Given the description of an element on the screen output the (x, y) to click on. 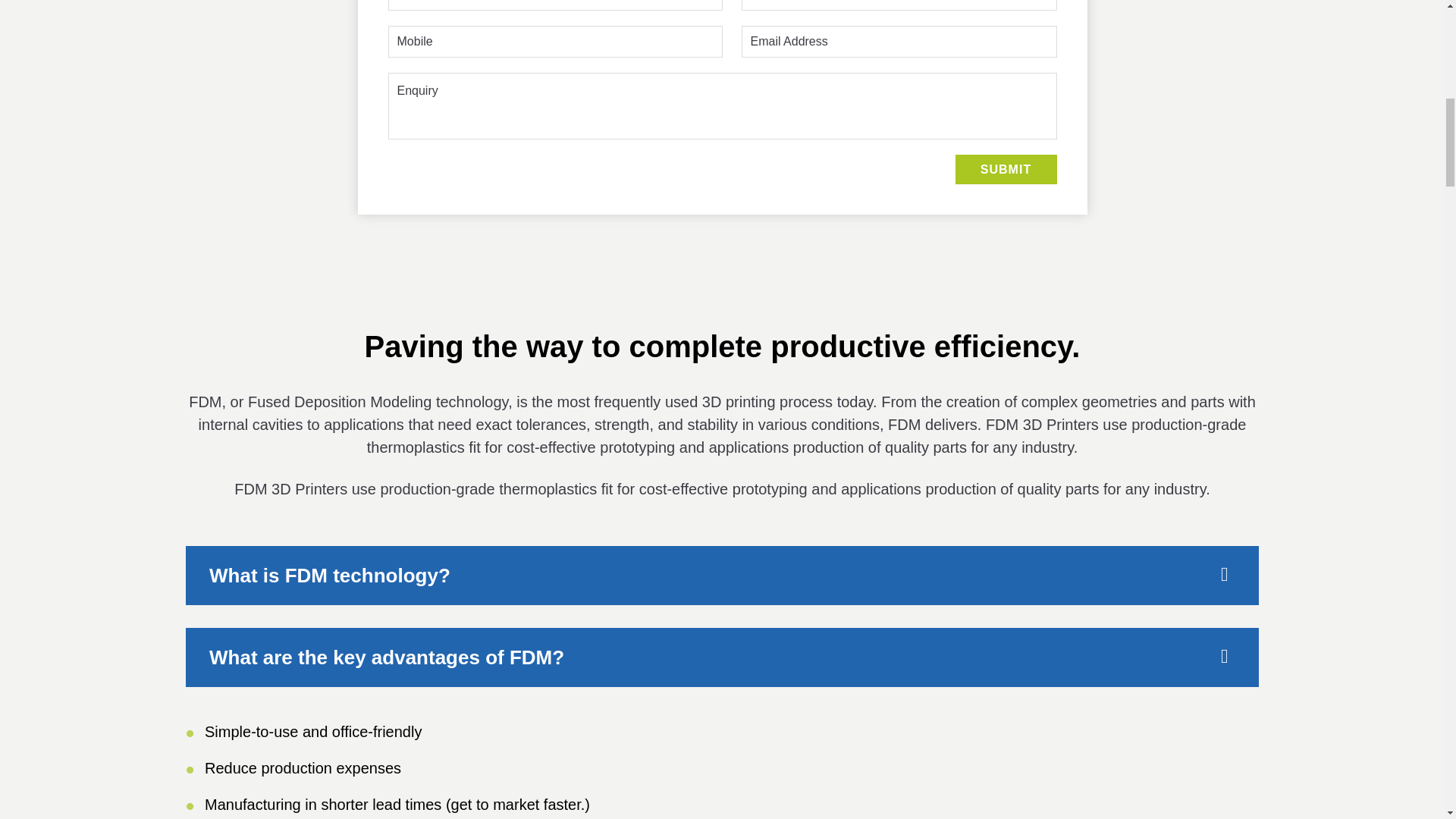
Submit (1006, 169)
